Given the description of an element on the screen output the (x, y) to click on. 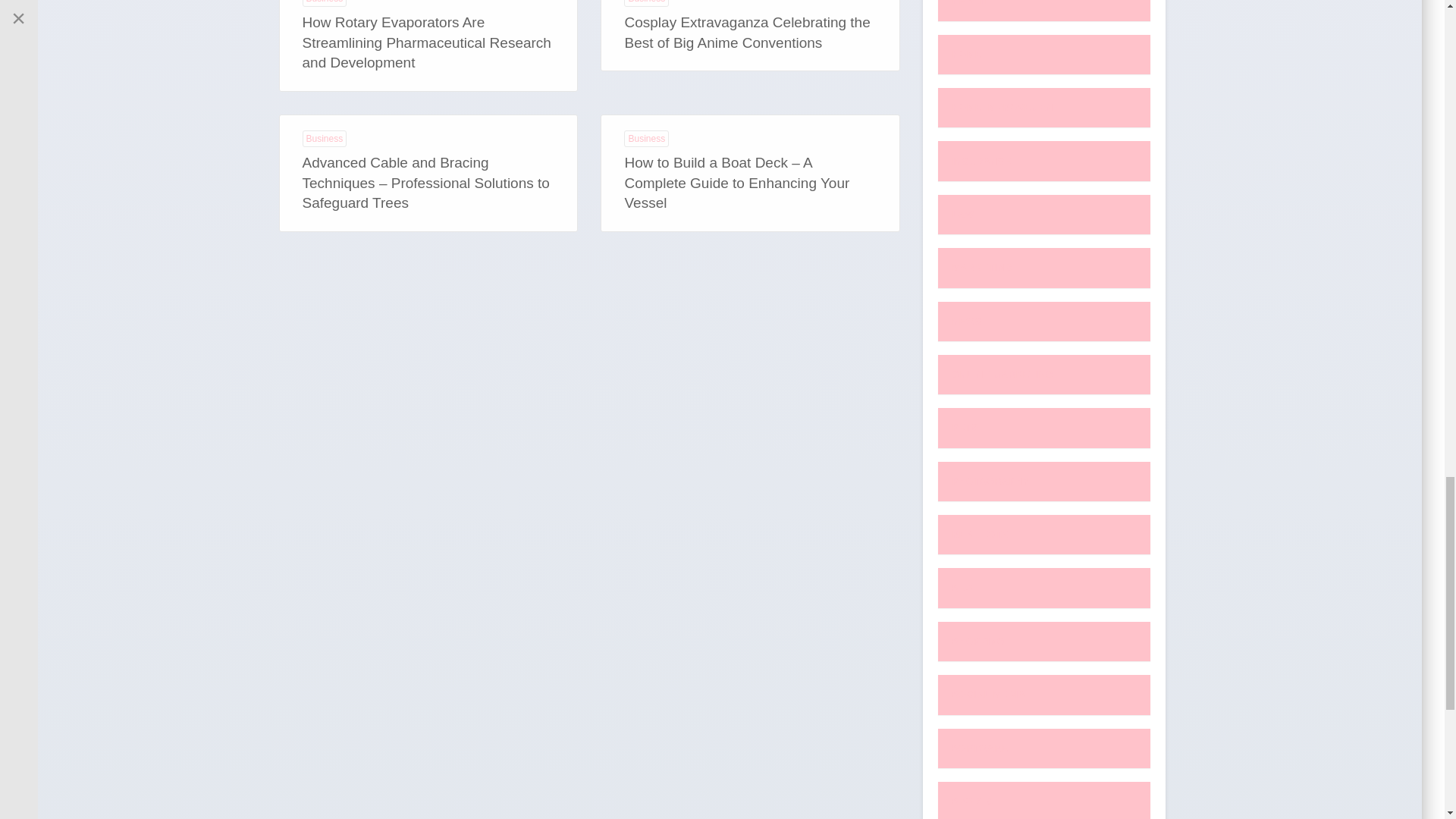
Business (646, 138)
Business (323, 138)
Business (646, 3)
Business (323, 3)
